Given the description of an element on the screen output the (x, y) to click on. 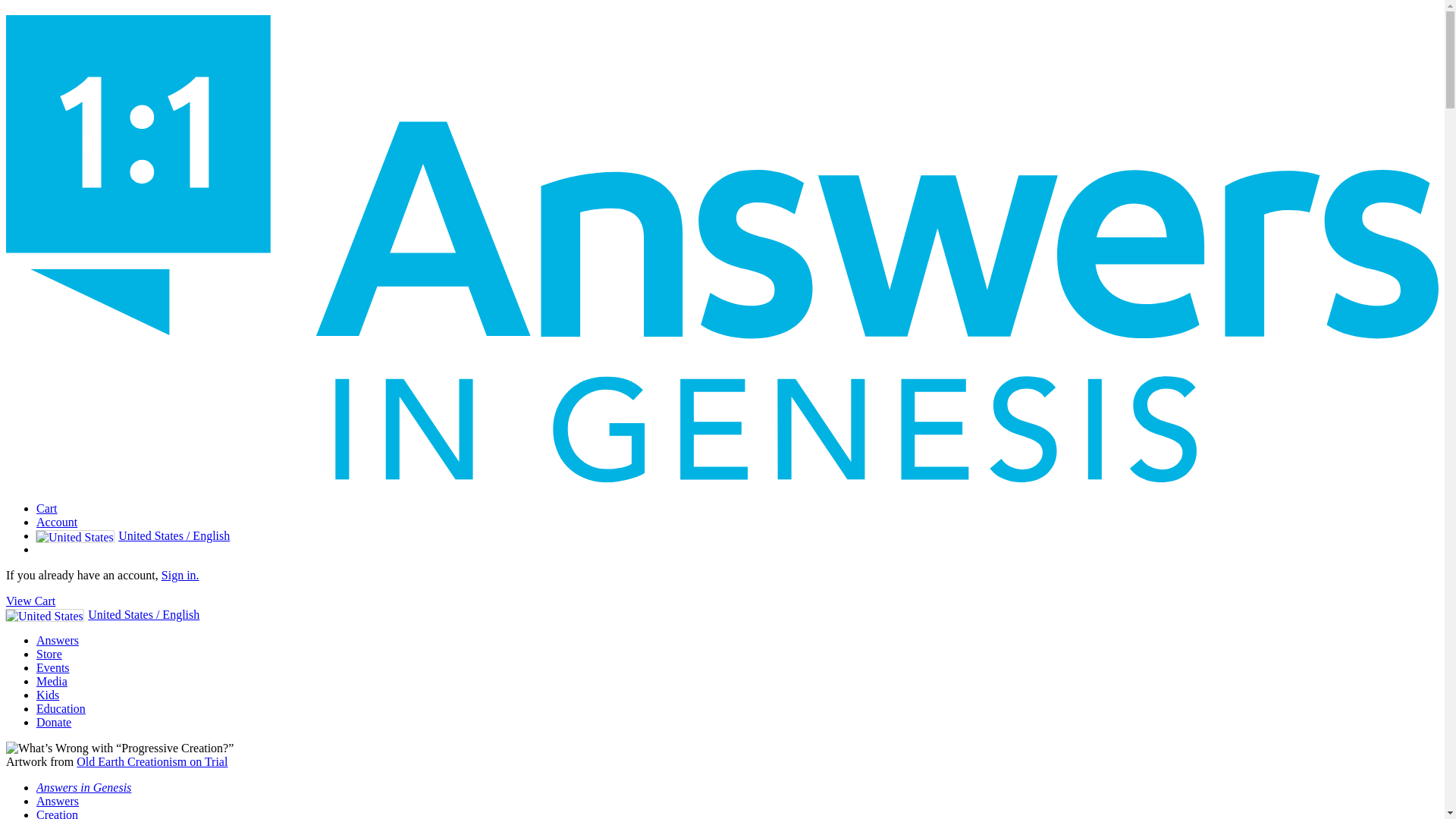
Donate (53, 721)
Sign in. (180, 574)
View Cart (30, 600)
Store (49, 653)
Store (49, 653)
Answers (57, 800)
Answers in Genesis (83, 787)
Old Earth Creationism on Trial (152, 761)
Creation (57, 813)
Events (52, 667)
Education (60, 707)
Account (56, 521)
Cart (47, 508)
Kids (47, 694)
Media (51, 680)
